Given the description of an element on the screen output the (x, y) to click on. 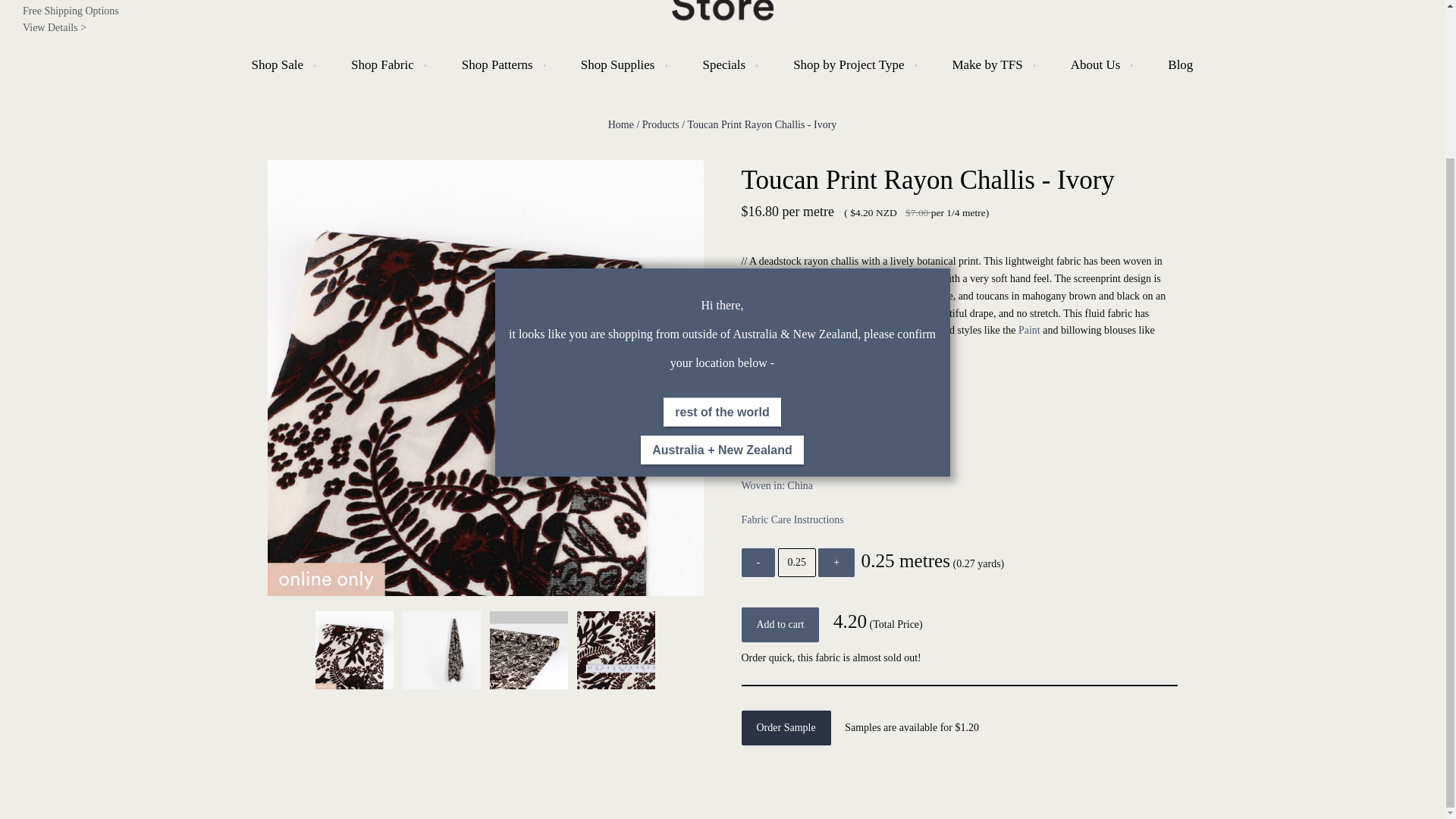
- (758, 562)
Add to cart (780, 624)
Shop Fabric (386, 64)
0.25 (796, 562)
Shop Sale (281, 64)
Order Sample (786, 727)
